Given the description of an element on the screen output the (x, y) to click on. 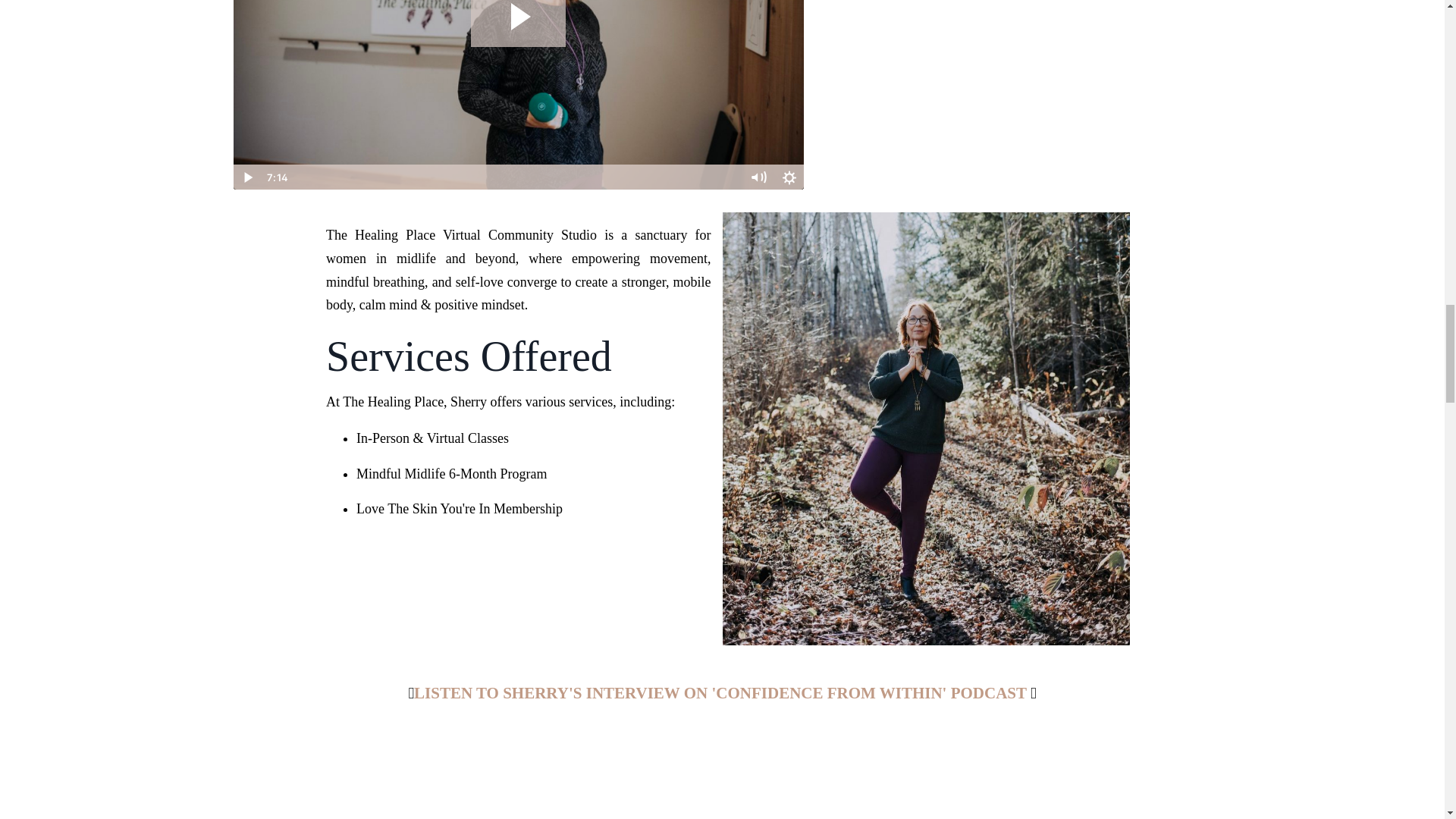
Show settings menu (789, 177)
